Given the description of an element on the screen output the (x, y) to click on. 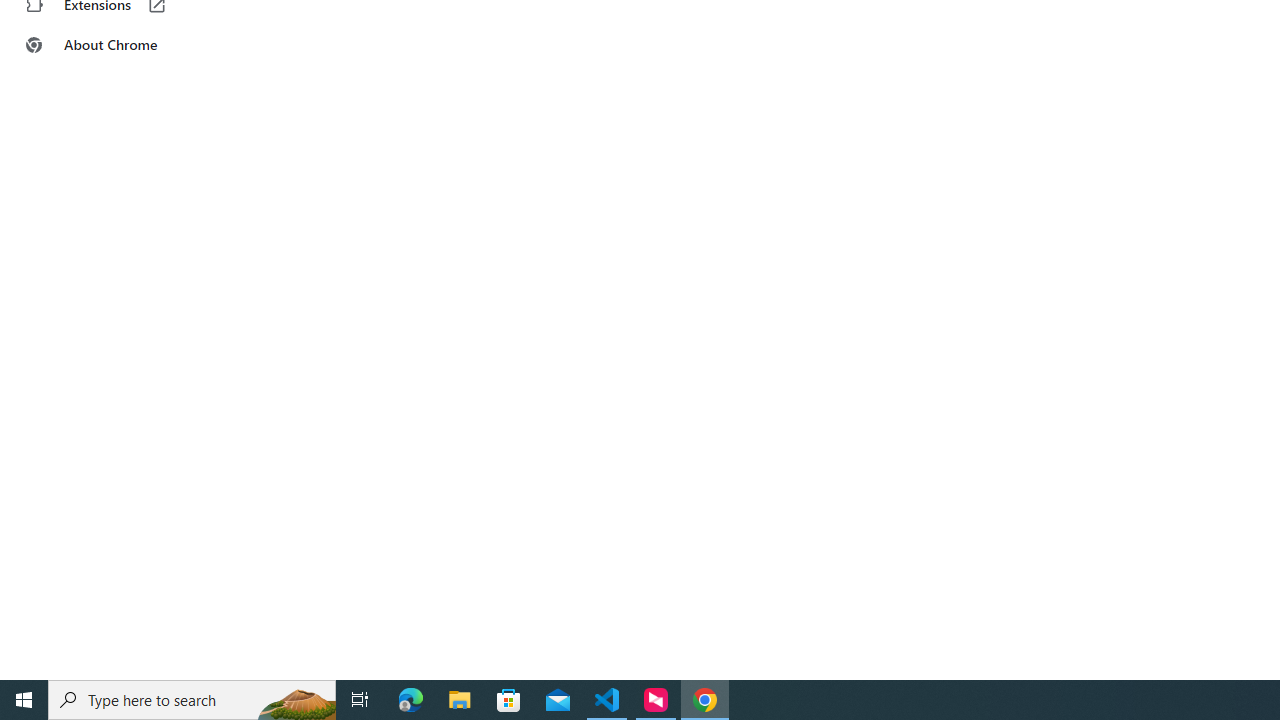
About Chrome (124, 44)
